Given the description of an element on the screen output the (x, y) to click on. 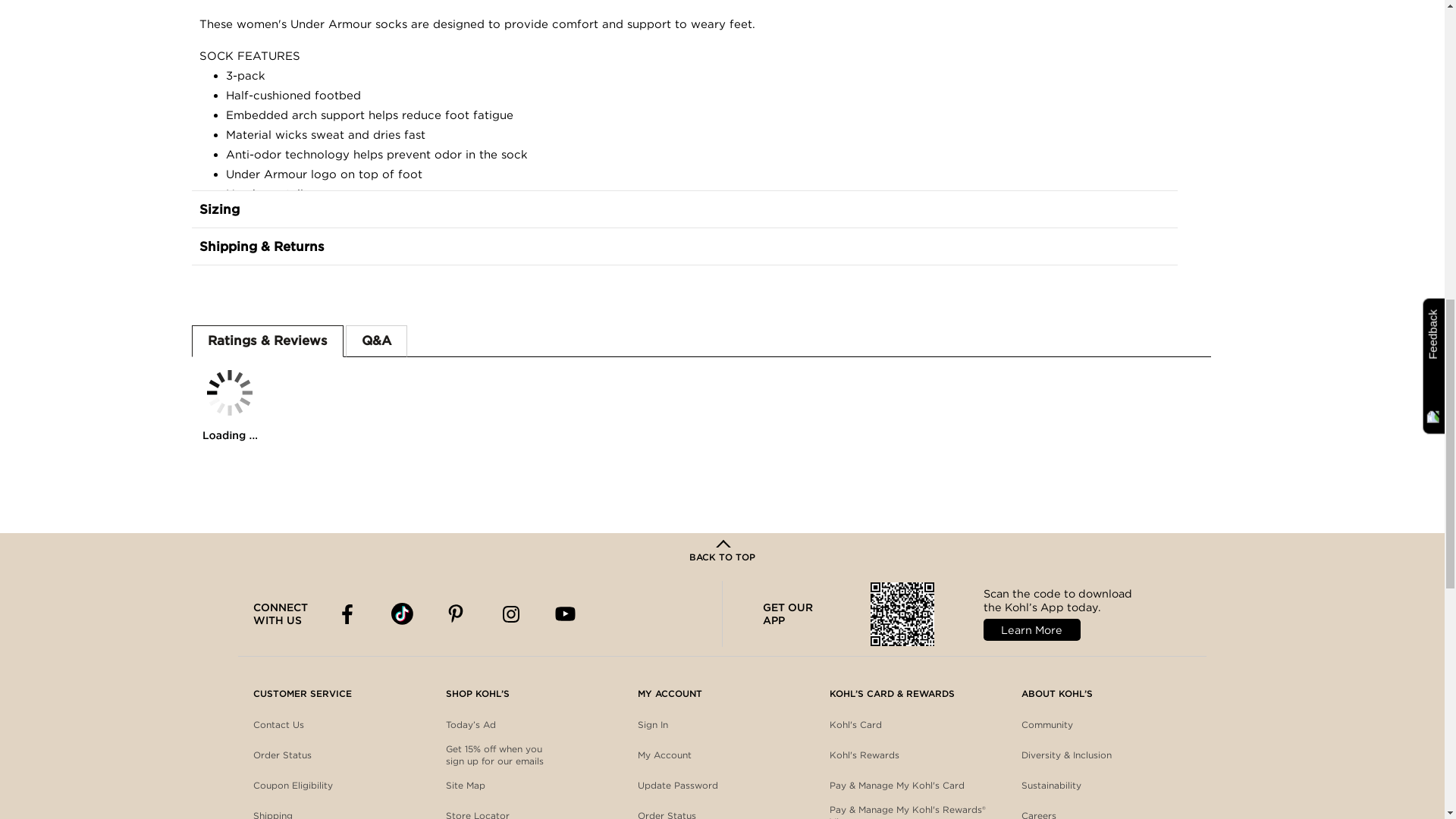
Sizing (683, 208)
BACK TO TOP (721, 552)
